Given the description of an element on the screen output the (x, y) to click on. 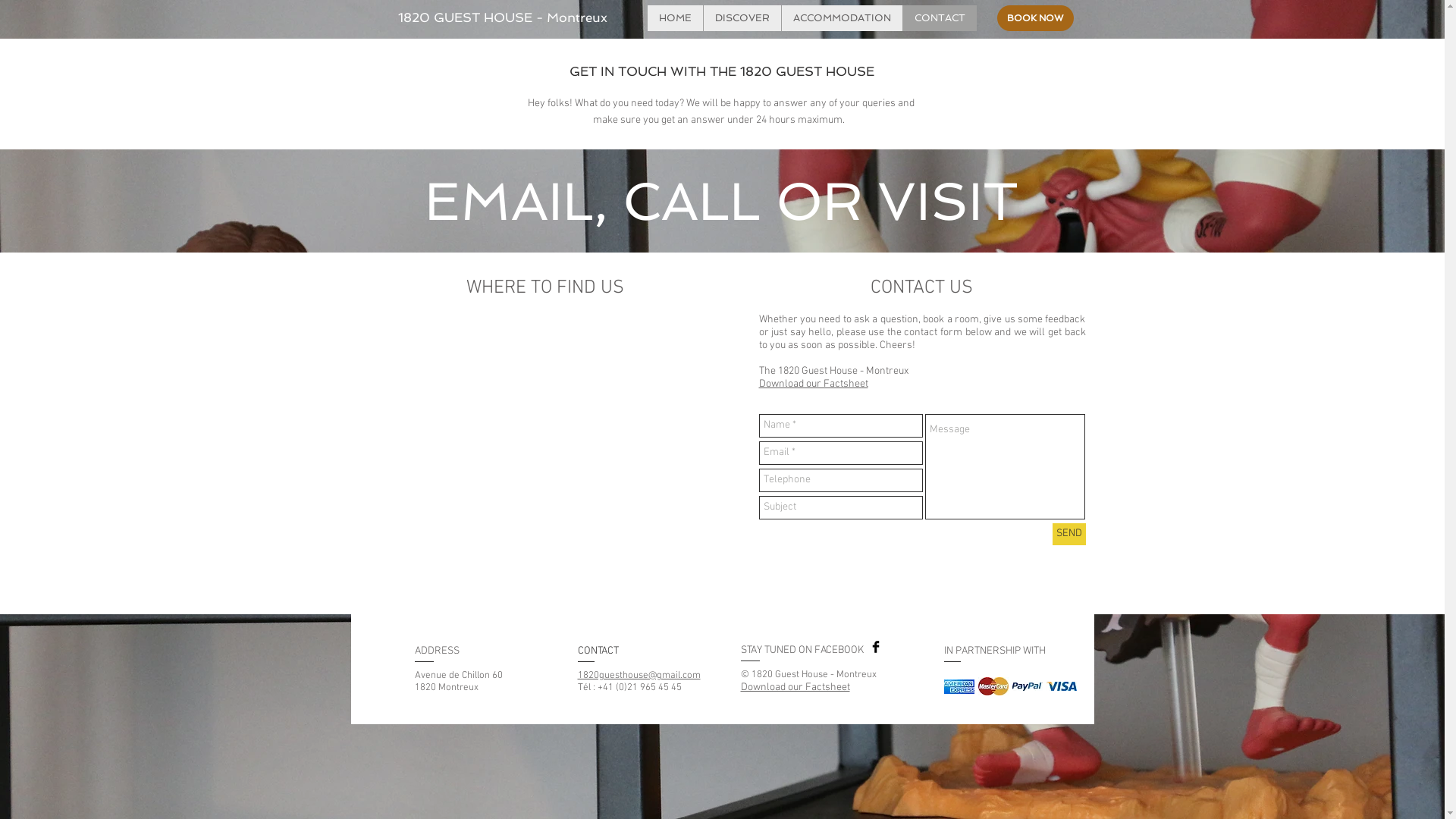
Download our Factsheet Element type: text (812, 383)
STAY TUNED ON FACEBOOK Element type: text (801, 649)
1820 GUEST HOUSE -  Element type: text (472, 17)
Download our Factsheet Element type: text (794, 687)
ACCOMMODATION Element type: text (841, 18)
1820guesthouse@gmail.com Element type: text (638, 675)
BOOK NOW Element type: text (1034, 18)
HOME Element type: text (674, 18)
SEND Element type: text (1068, 534)
DISCOVER Element type: text (741, 18)
Google Maps Element type: hover (545, 440)
CONTACT Element type: text (939, 18)
